Given the description of an element on the screen output the (x, y) to click on. 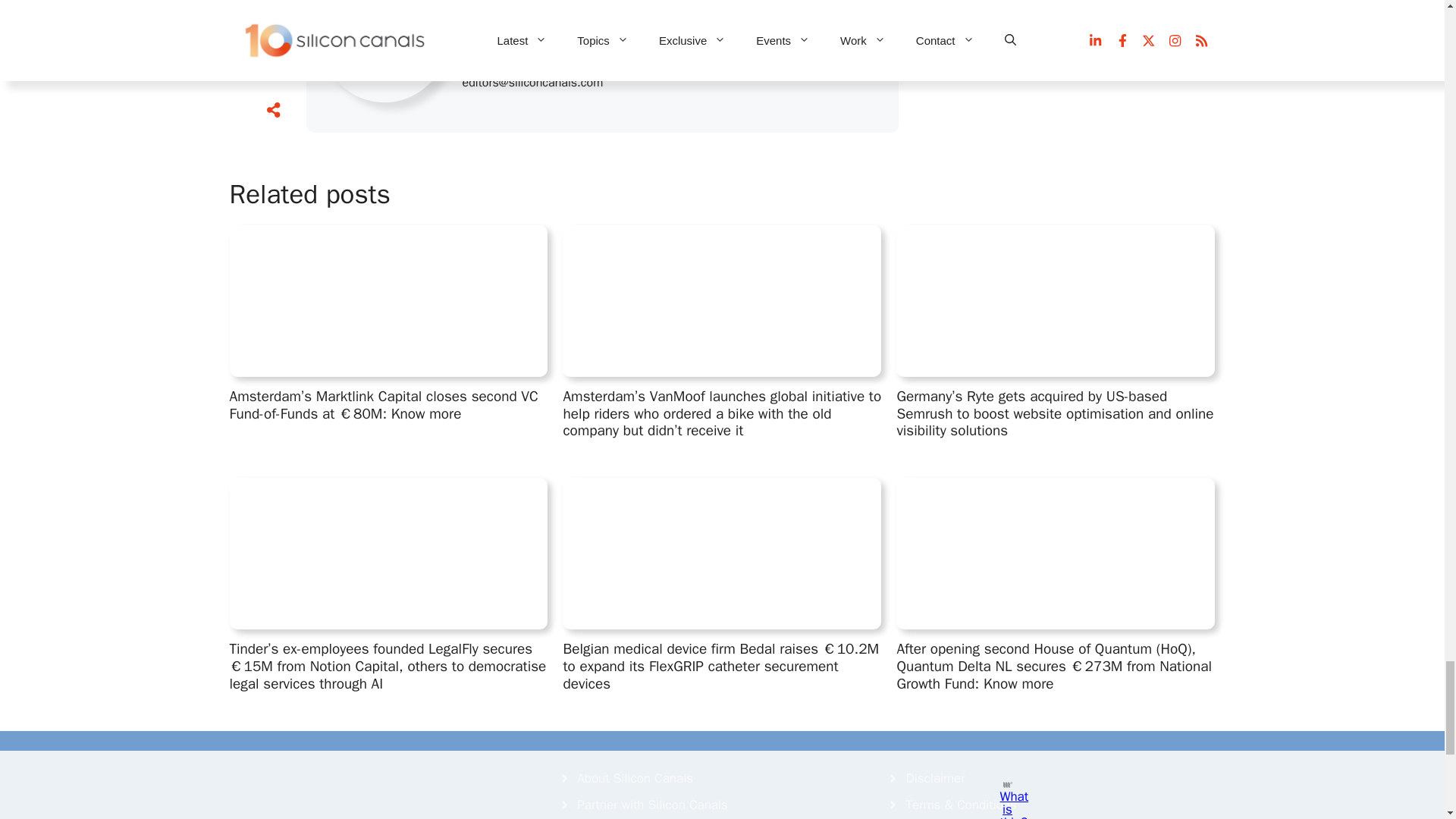
Silicon Canals logo white SC (342, 794)
